Given the description of an element on the screen output the (x, y) to click on. 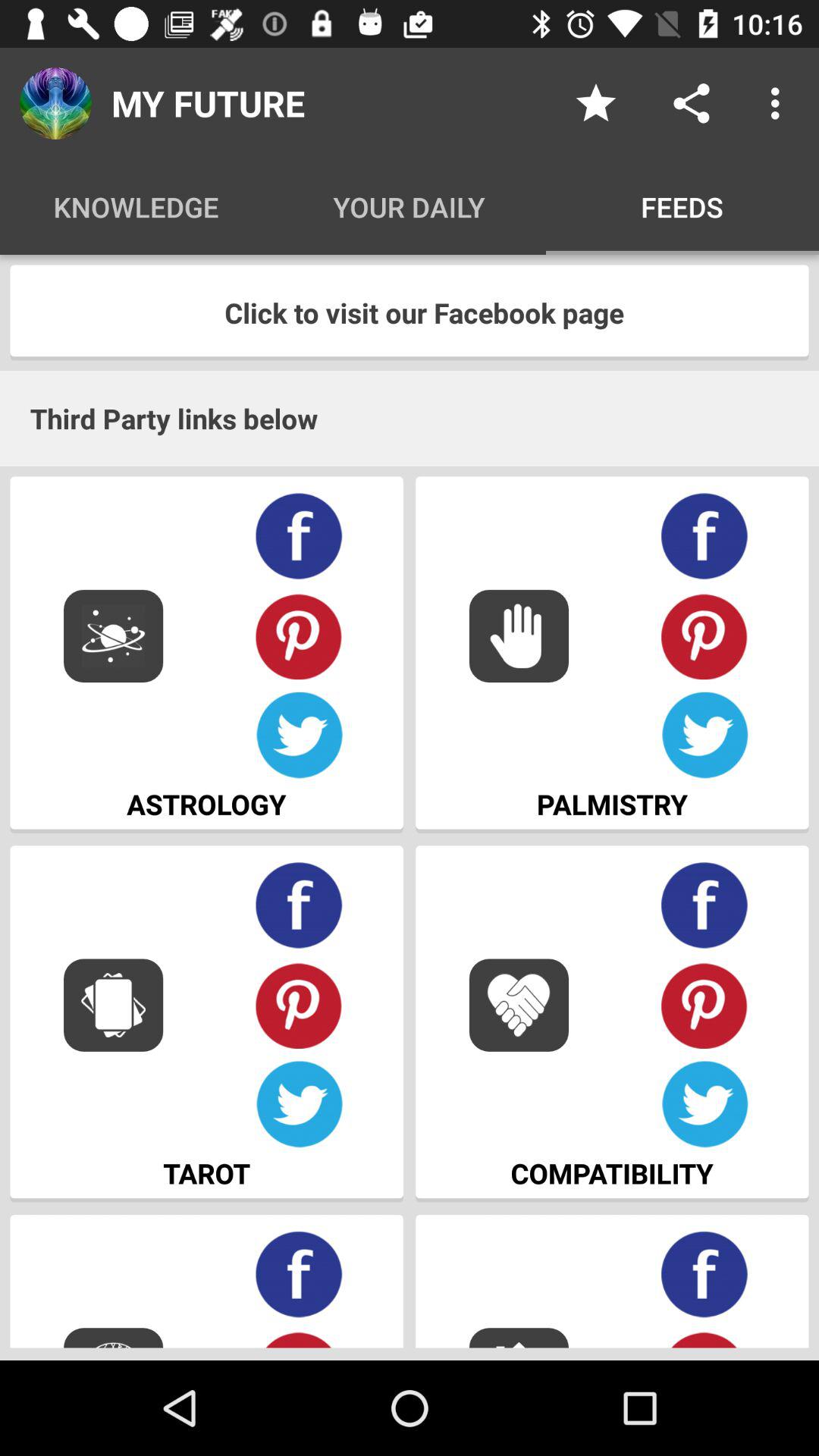
facebook (704, 536)
